Given the description of an element on the screen output the (x, y) to click on. 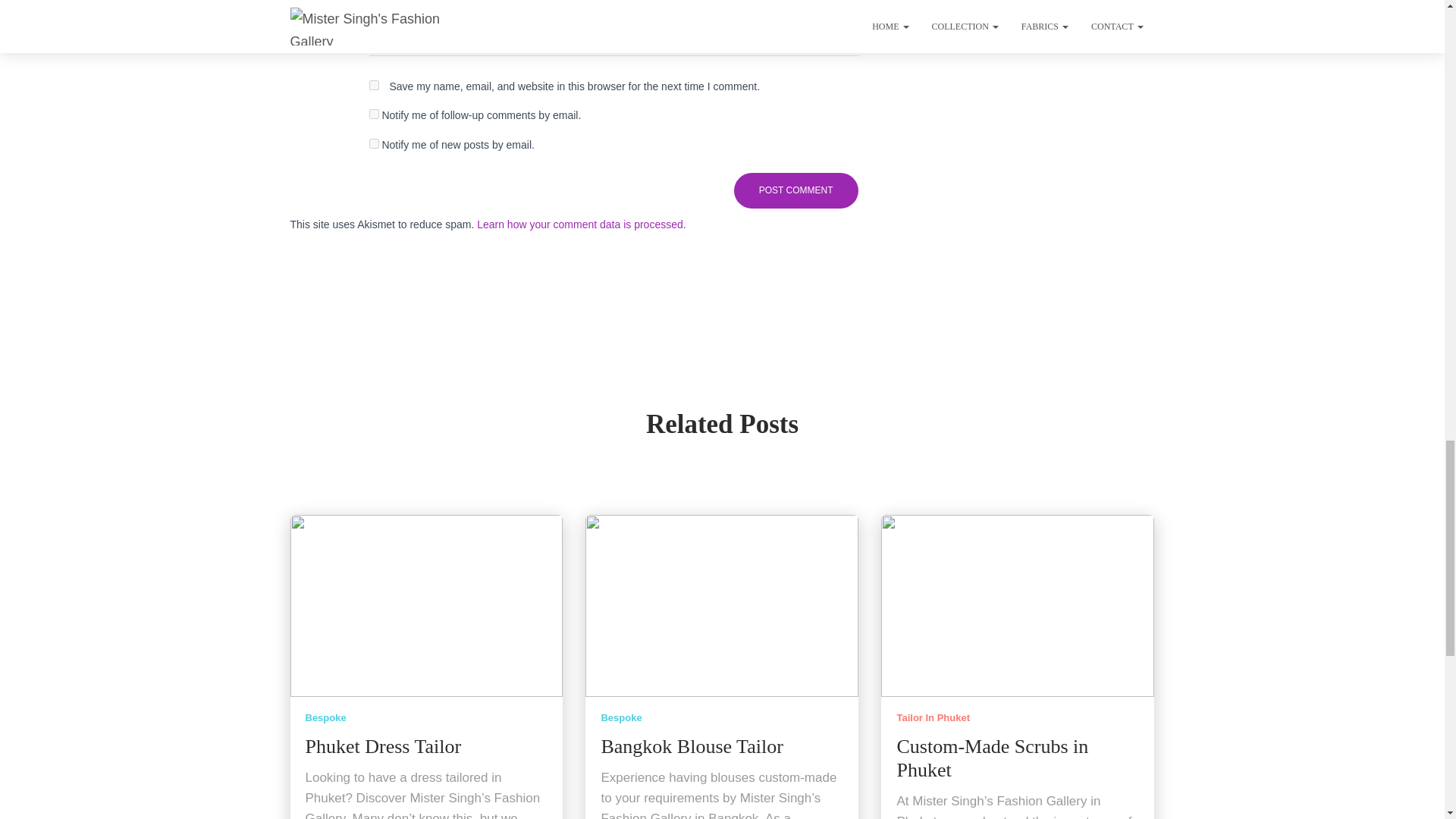
Learn how your comment data is processed (579, 224)
subscribe (373, 143)
subscribe (373, 113)
yes (373, 85)
Post Comment (796, 190)
Post Comment (796, 190)
